Given the description of an element on the screen output the (x, y) to click on. 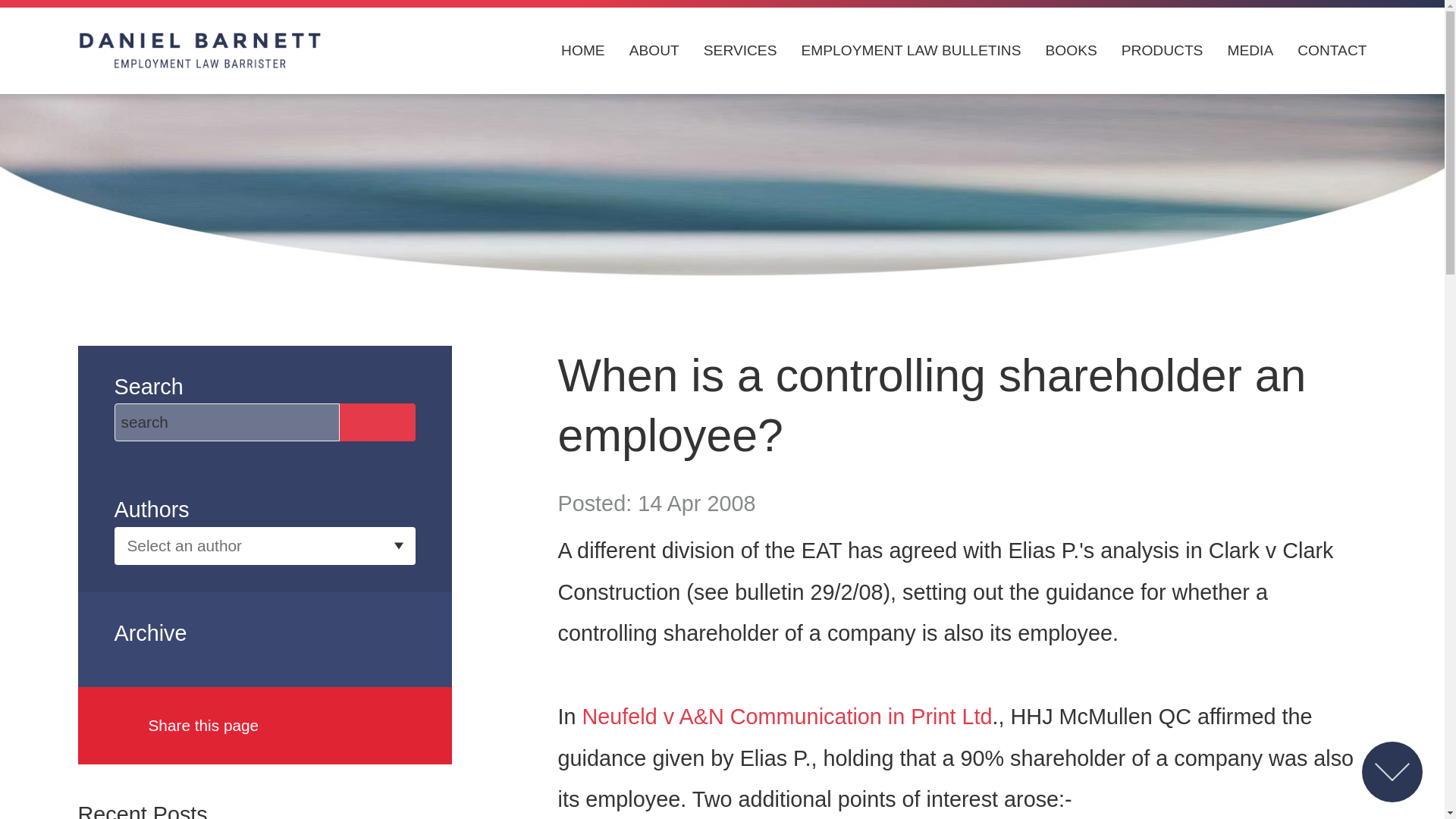
search (226, 422)
search (226, 422)
ABOUT (653, 51)
PRODUCTS (1162, 51)
BOOKS (1070, 51)
HOME (582, 51)
SERVICES (740, 51)
CONTACT (1332, 51)
MEDIA (1249, 51)
EMPLOYMENT LAW BULLETINS (910, 51)
